Given the description of an element on the screen output the (x, y) to click on. 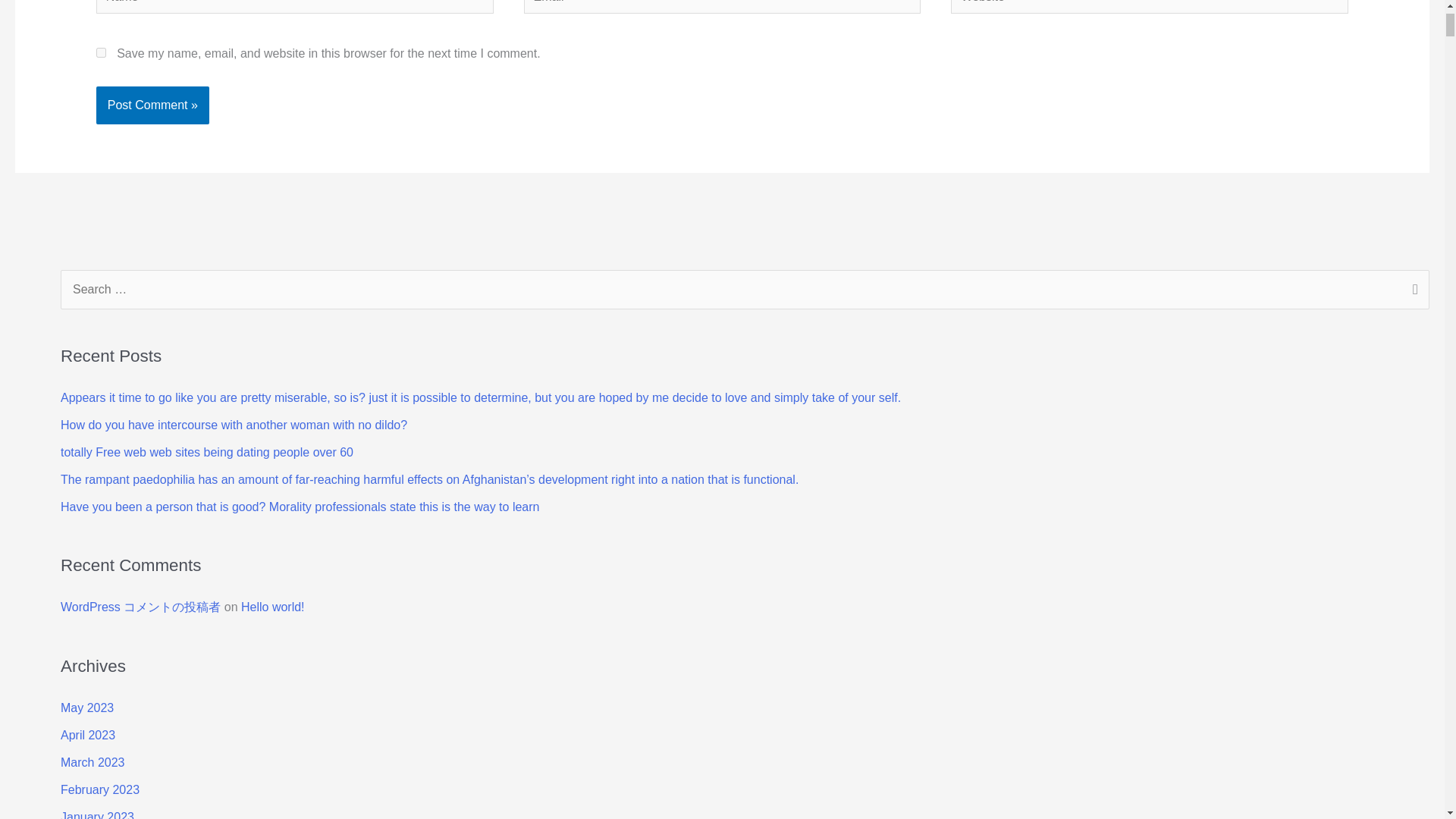
totally Free web web sites being dating people over 60 (207, 451)
yes (101, 52)
Hello world! (272, 606)
